Given the description of an element on the screen output the (x, y) to click on. 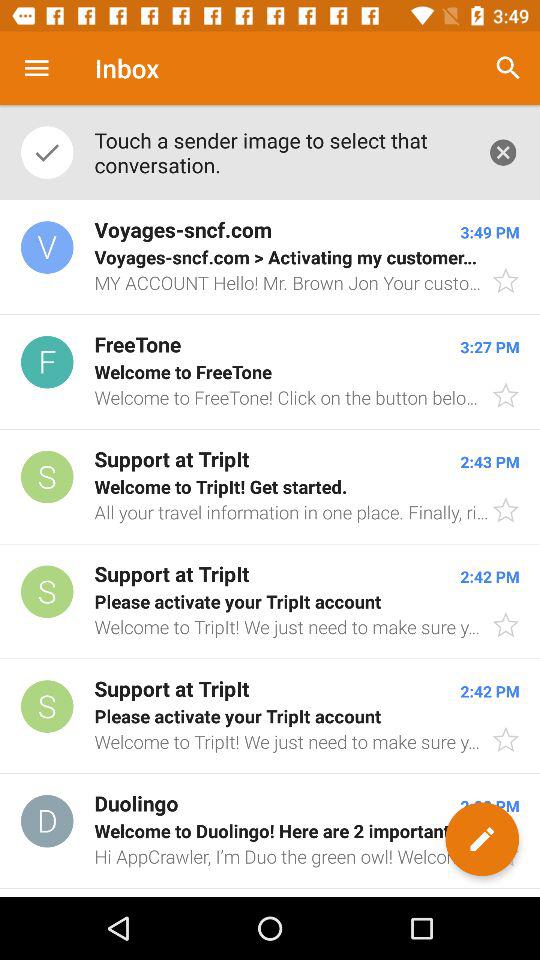
select the item below the touch a sender (270, 257)
